Given the description of an element on the screen output the (x, y) to click on. 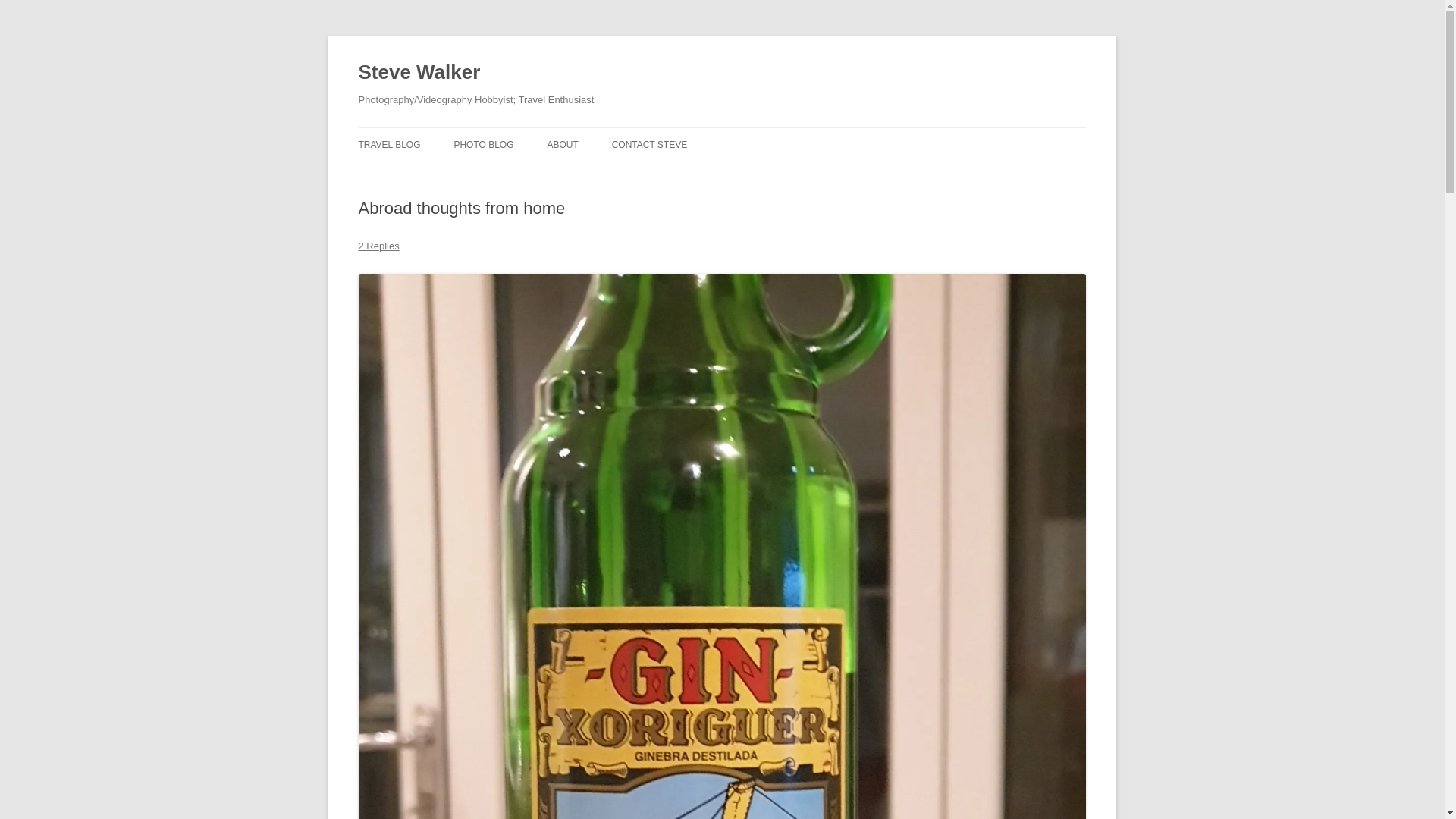
2 Replies (378, 245)
TRAVEL BLOG (389, 144)
Steve Walker (419, 72)
PHOTO BLOG (482, 144)
CONTACT STEVE (649, 144)
ABOUT (562, 144)
